Given the description of an element on the screen output the (x, y) to click on. 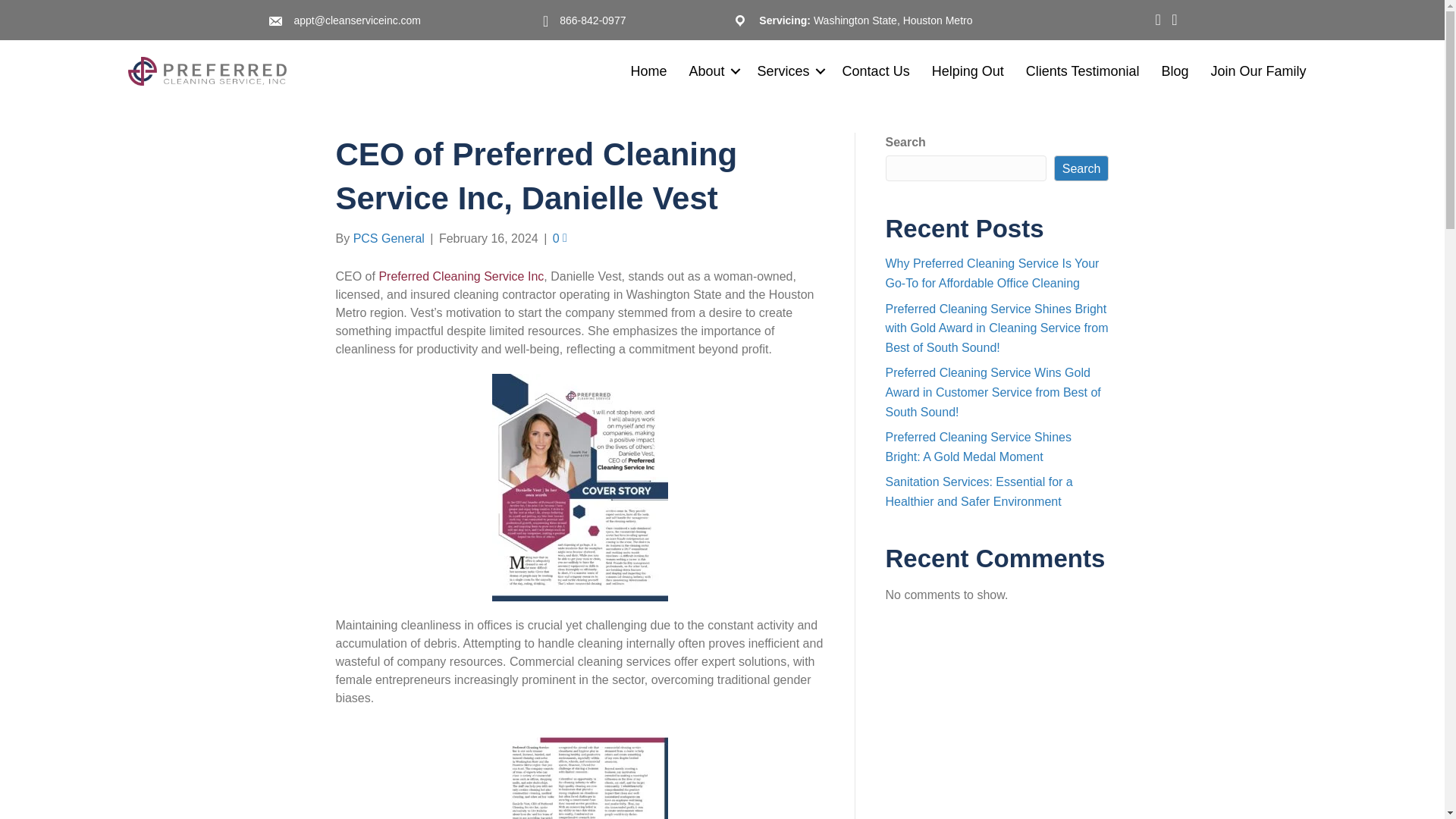
Blog (1174, 71)
About (711, 71)
Search (1081, 167)
Vertical-Logo (206, 70)
Helping Out (967, 71)
Join Our Family (1257, 71)
PCS General (389, 237)
